Given the description of an element on the screen output the (x, y) to click on. 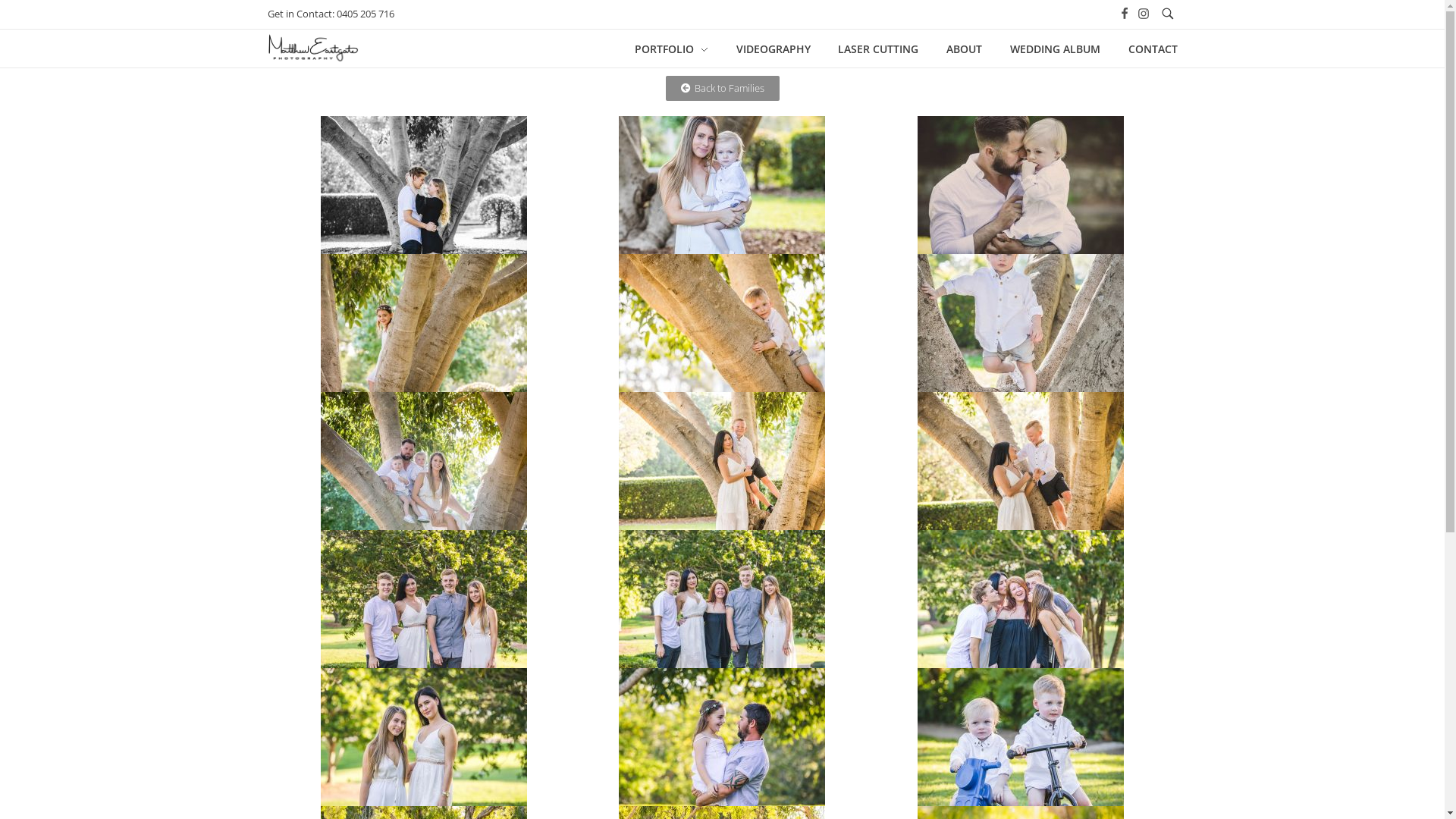
Back to Families Element type: text (722, 87)
VIDEOGRAPHY Element type: text (772, 48)
CONTACT Element type: text (1144, 48)
WEDDING ALBUM Element type: text (1054, 48)
ABOUT Element type: text (964, 48)
LASER CUTTING Element type: text (878, 48)
PORTFOLIO Element type: text (677, 48)
